Given the description of an element on the screen output the (x, y) to click on. 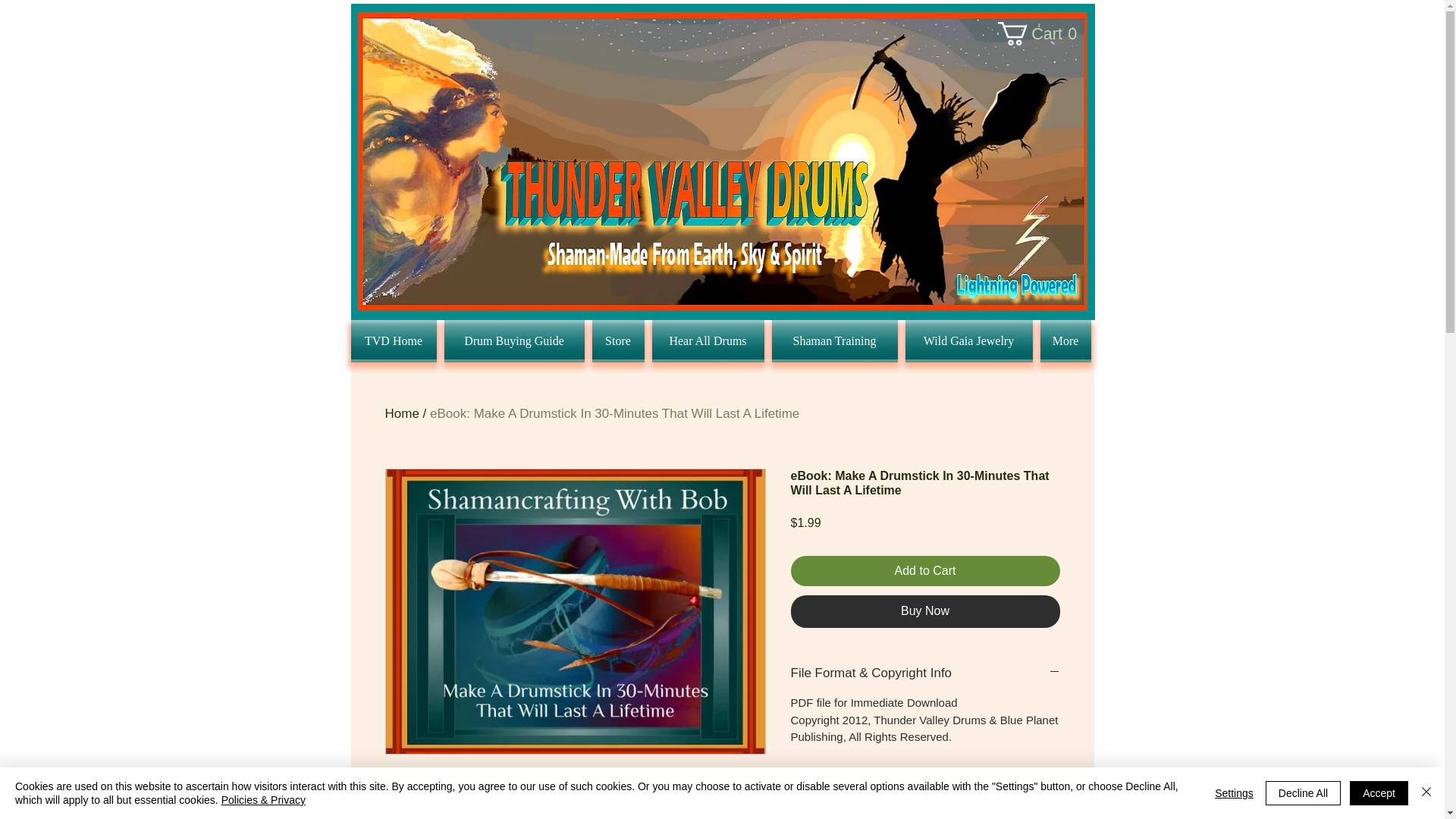
Buy Now (1041, 33)
Add to Cart (924, 611)
Home (924, 571)
TVD Home (402, 413)
Shaman Training (394, 341)
Wild Gaia Jewelry (834, 341)
Store (968, 341)
